Given the description of an element on the screen output the (x, y) to click on. 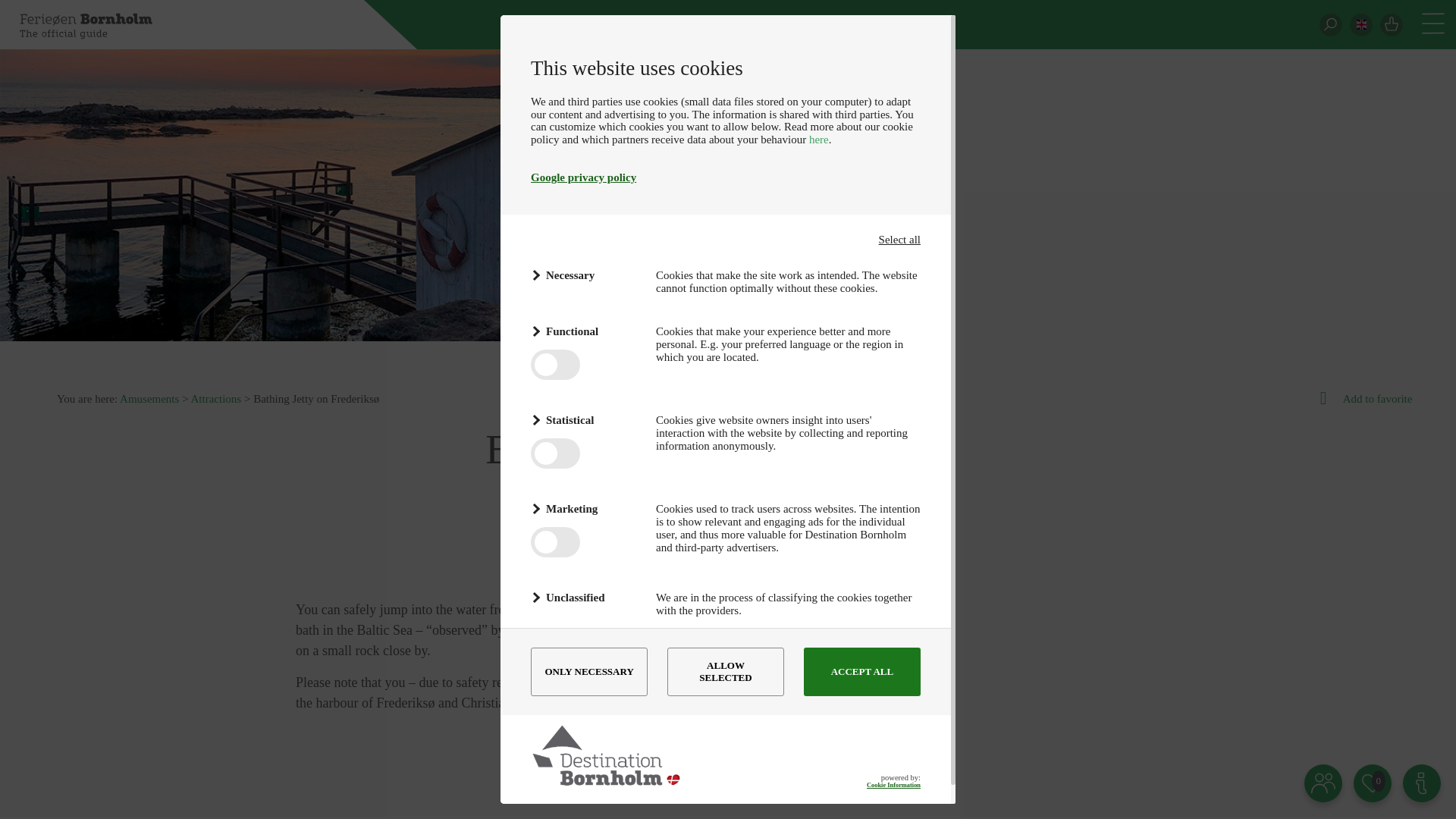
Google privacy policy (583, 177)
Functional (584, 331)
Select all (899, 239)
Necessary (584, 275)
Marketing (584, 508)
Statistical (584, 420)
here (818, 139)
